Given the description of an element on the screen output the (x, y) to click on. 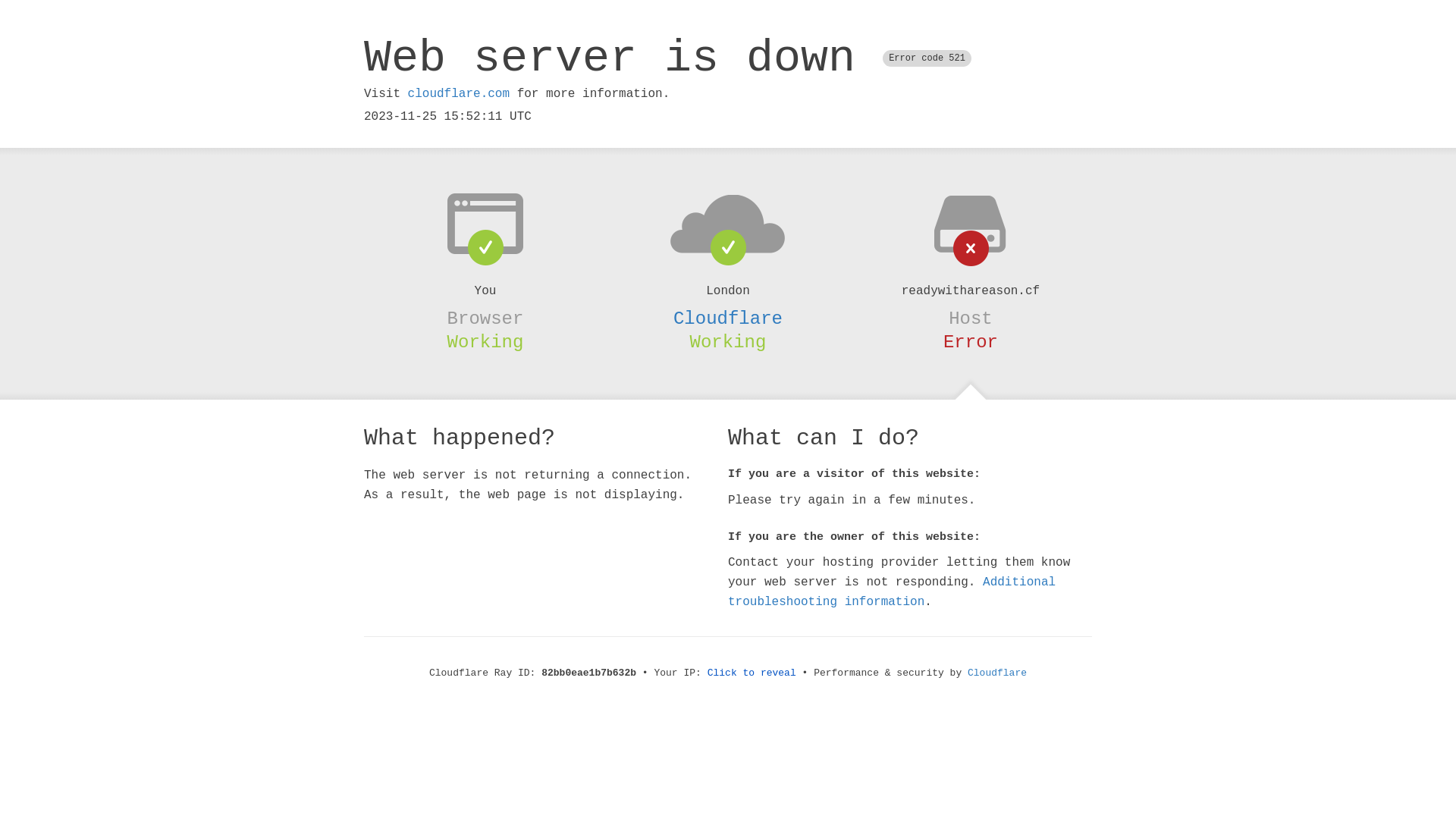
Click to reveal Element type: text (751, 672)
Additional troubleshooting information Element type: text (891, 591)
cloudflare.com Element type: text (458, 93)
Cloudflare Element type: text (727, 318)
Cloudflare Element type: text (996, 672)
